Given the description of an element on the screen output the (x, y) to click on. 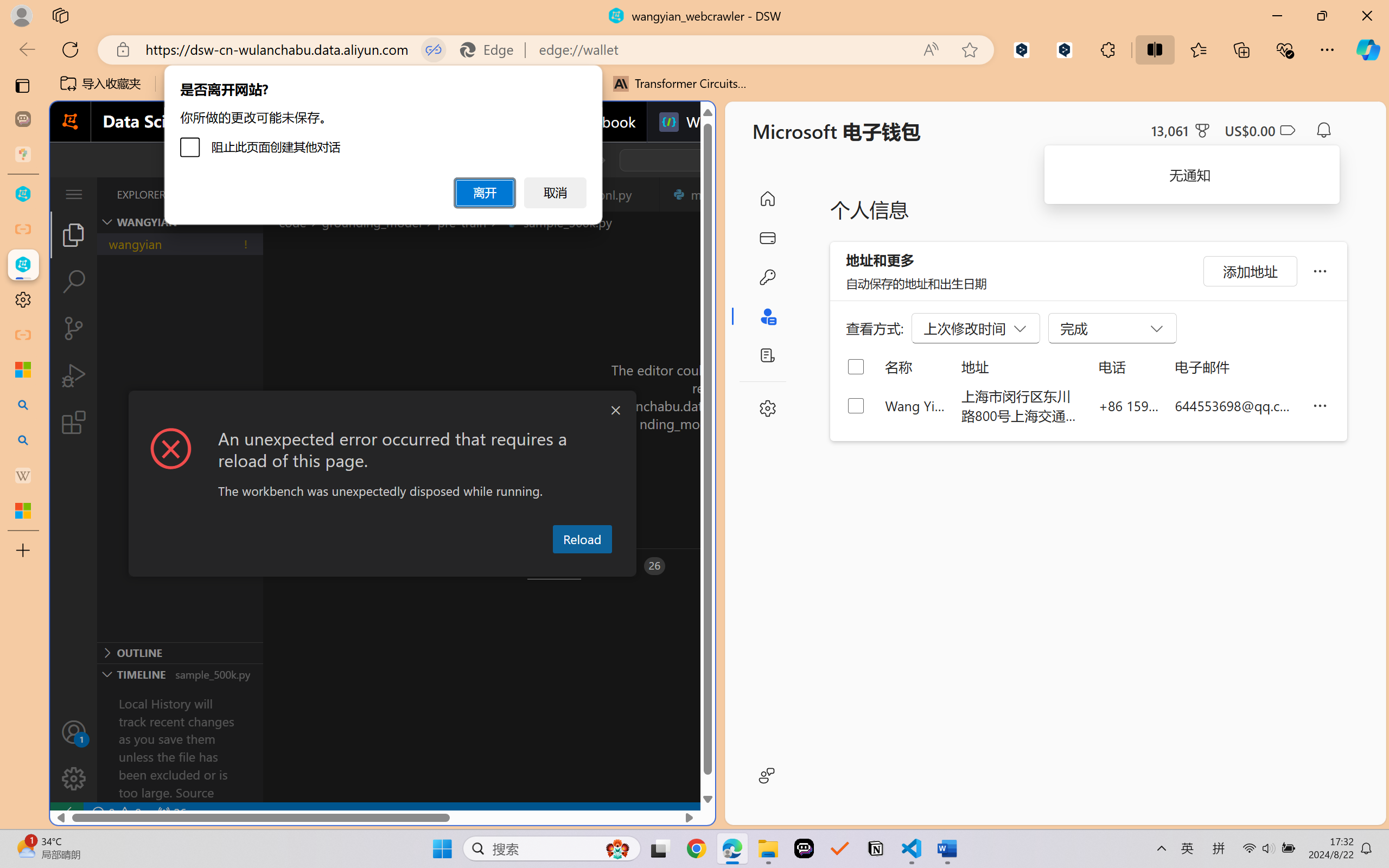
Ports - 26 forwarded ports (632, 565)
644553698@qq.com (1235, 405)
wangyian_webcrawler - DSW (22, 264)
remote (66, 812)
Google Chrome (696, 848)
